Given the description of an element on the screen output the (x, y) to click on. 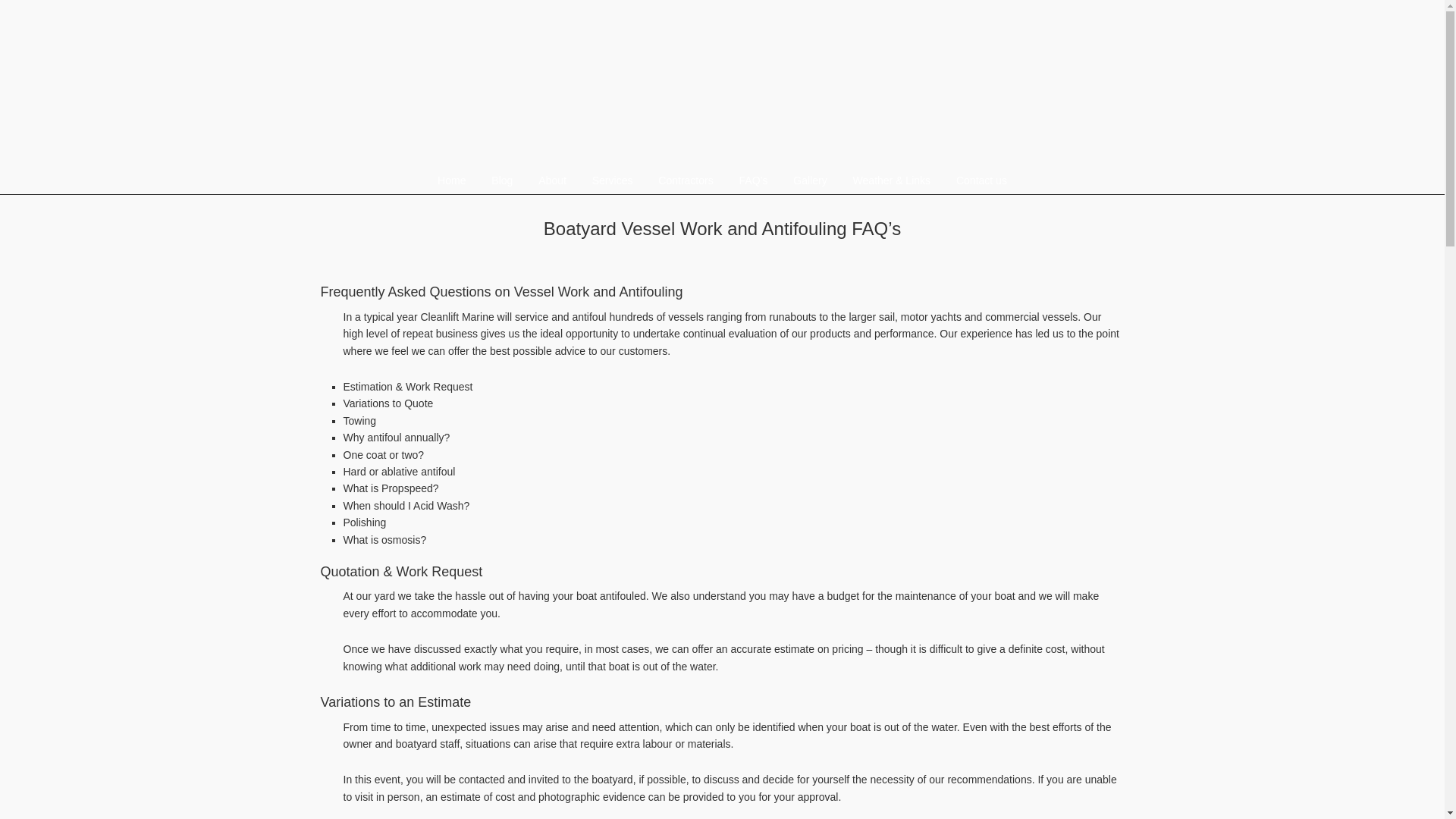
Blog Element type: text (502, 180)
Contractors Element type: text (685, 180)
Gallery Element type: text (809, 180)
Weather & Links Element type: text (891, 180)
Home Element type: text (451, 180)
About Element type: text (552, 180)
Contact us Element type: text (981, 180)
Cleanlift Marine Element type: text (573, 83)
Services Element type: text (612, 180)
